Given the description of an element on the screen output the (x, y) to click on. 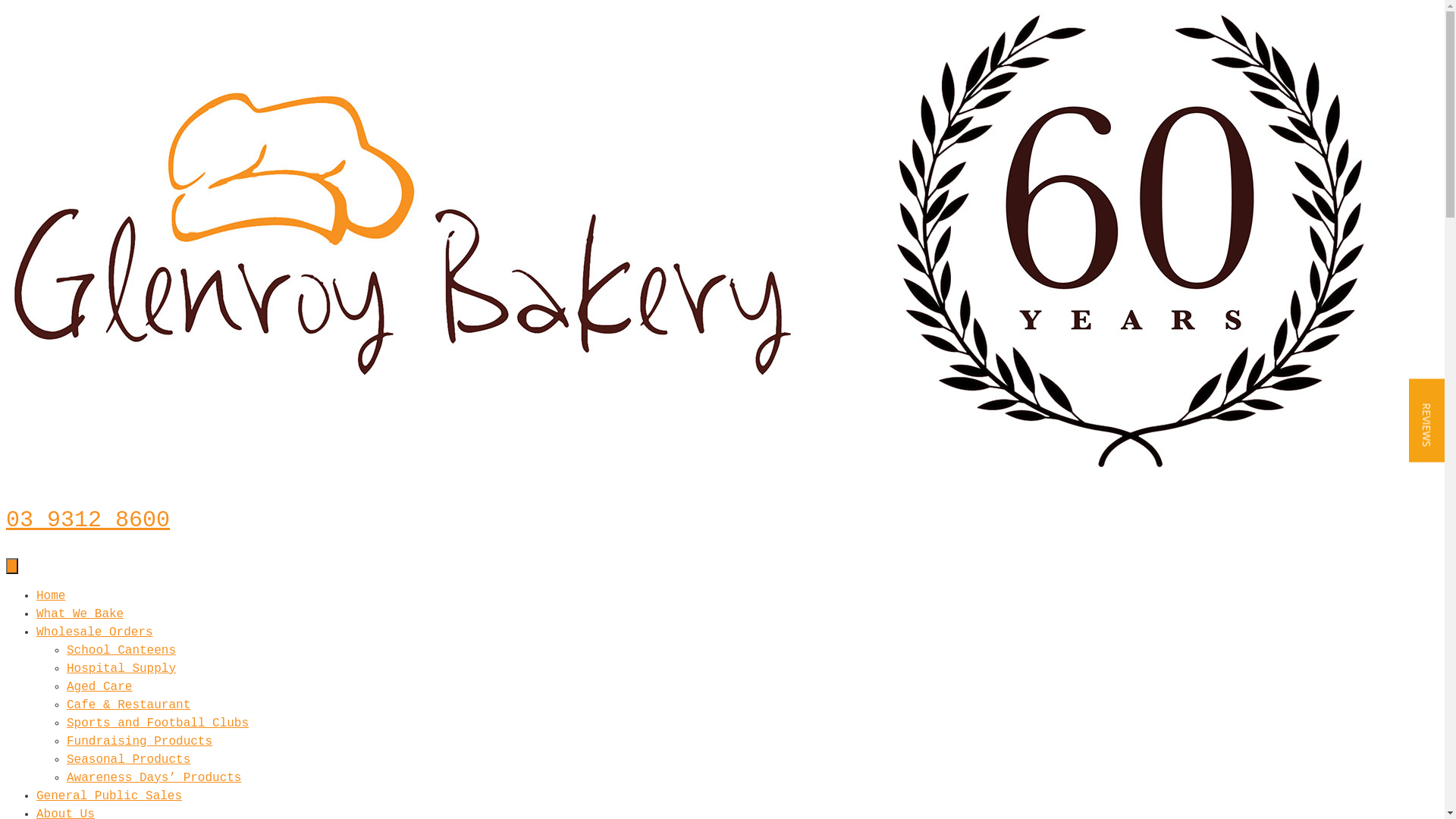
What We Bake Element type: text (79, 614)
School Canteens Element type: text (120, 650)
Home Element type: text (50, 595)
Sports and Football Clubs Element type: text (157, 723)
Hospital Supply Element type: text (120, 668)
GLB_60-years-logo Element type: hover (691, 242)
General Public Sales Element type: text (109, 796)
Seasonal Products Element type: text (128, 759)
Skip to content Element type: text (5, 5)
Wholesale Orders Element type: text (94, 632)
03 9312 8600 Element type: text (87, 520)
Fundraising Products Element type: text (139, 741)
Cafe & Restaurant Element type: text (128, 705)
Aged Care Element type: text (98, 686)
